Given the description of an element on the screen output the (x, y) to click on. 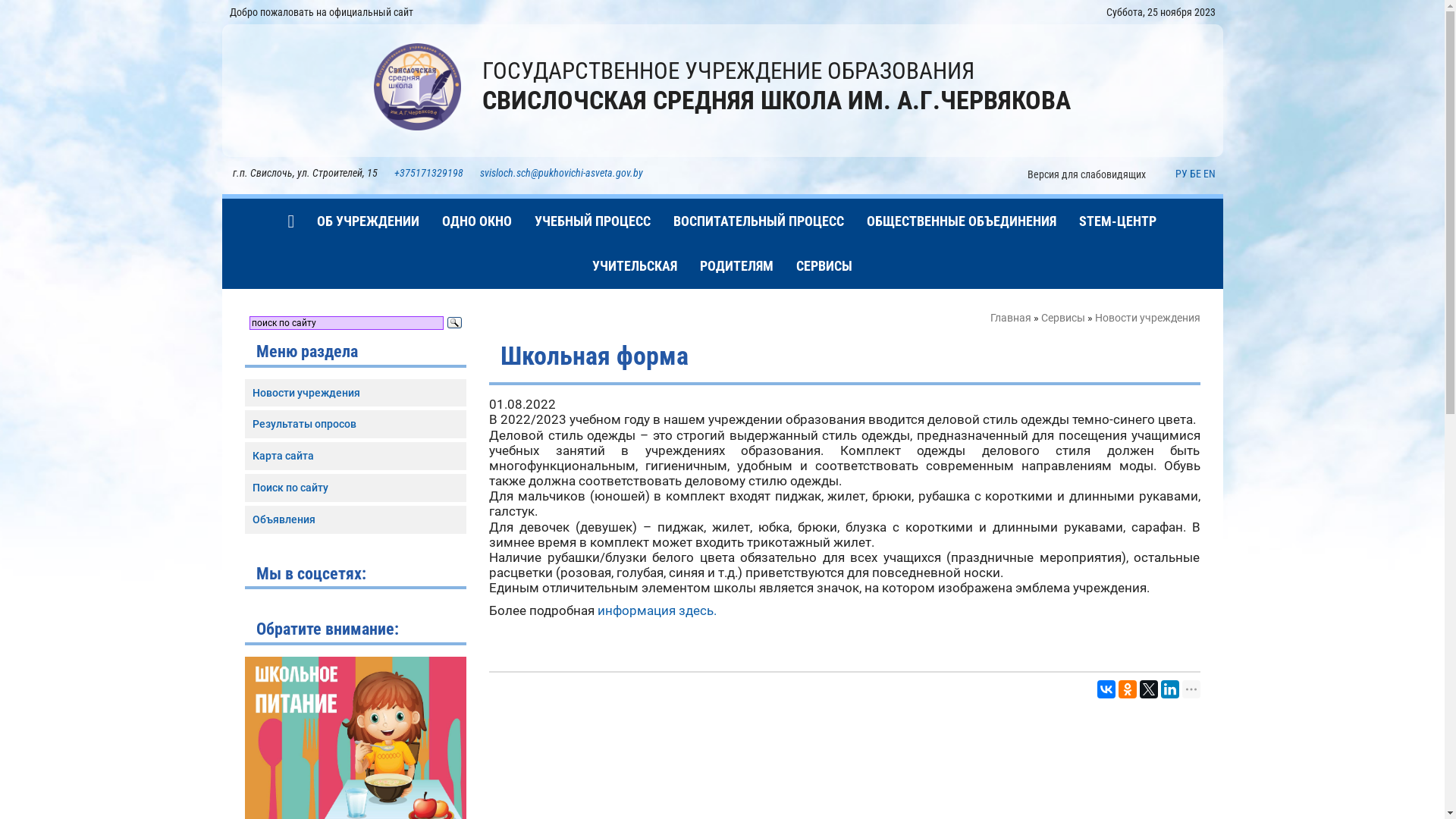
+375171329198 Element type: text (428, 172)
Twitter Element type: hover (1148, 689)
svisloch.sch@pukhovichi-asveta.gov.by Element type: text (564, 172)
EN Element type: text (1208, 173)
LinkedIn Element type: hover (1169, 689)
